Given the description of an element on the screen output the (x, y) to click on. 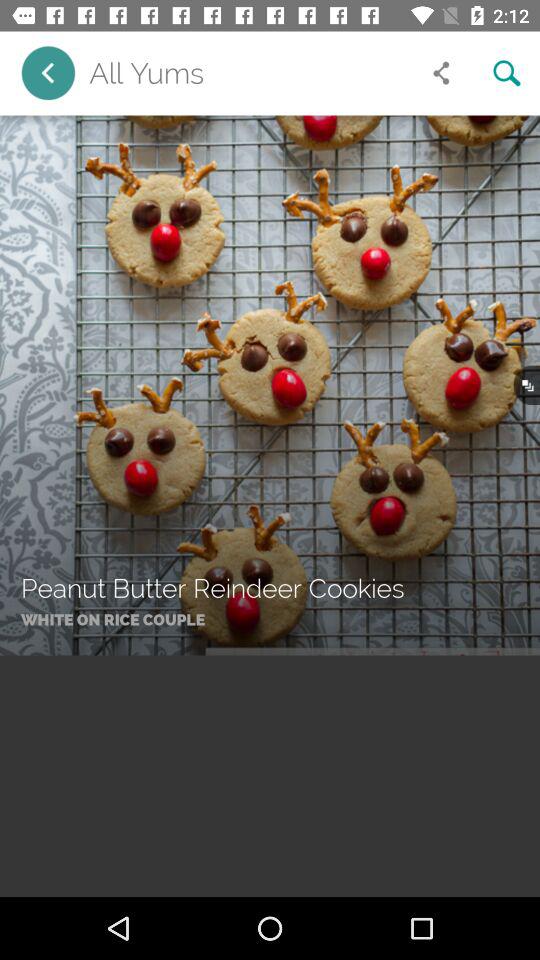
go back (48, 72)
